Given the description of an element on the screen output the (x, y) to click on. 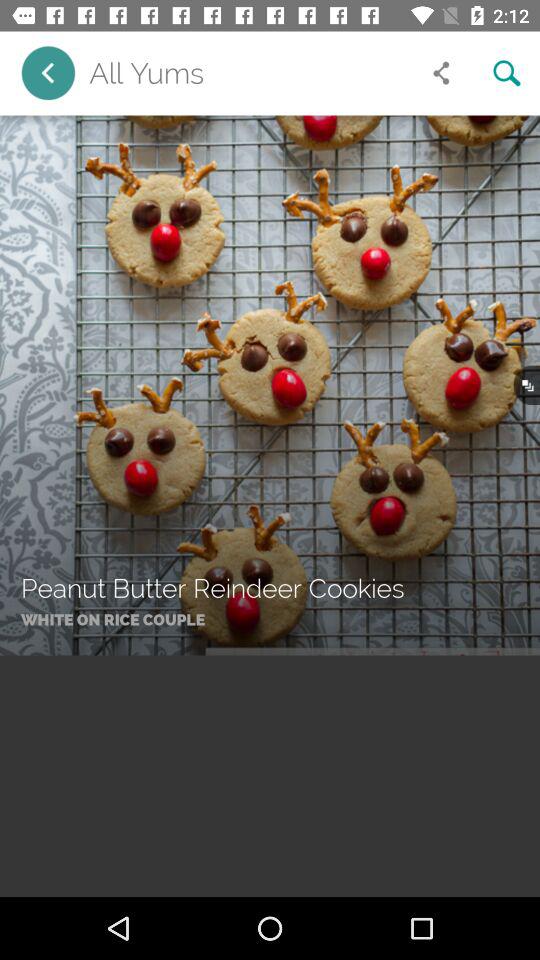
go back (48, 72)
